Given the description of an element on the screen output the (x, y) to click on. 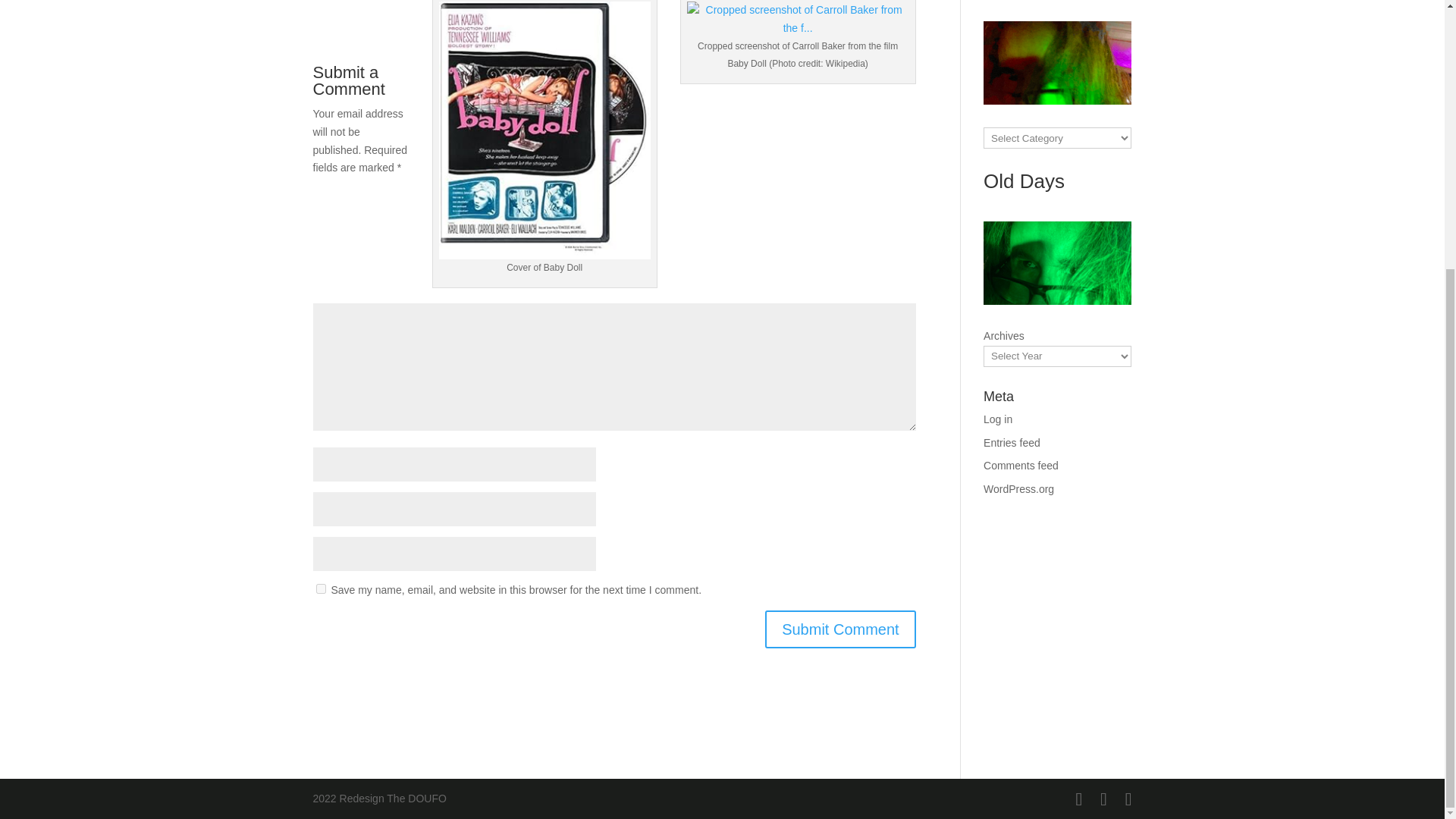
WordPress.org (1019, 489)
yes (319, 588)
Entries feed (1012, 442)
Submit Comment (840, 629)
Submit Comment (840, 629)
Comments feed (1021, 465)
Cropped screenshot of Carroll Baker from the f... (797, 19)
Log in (997, 419)
